Given the description of an element on the screen output the (x, y) to click on. 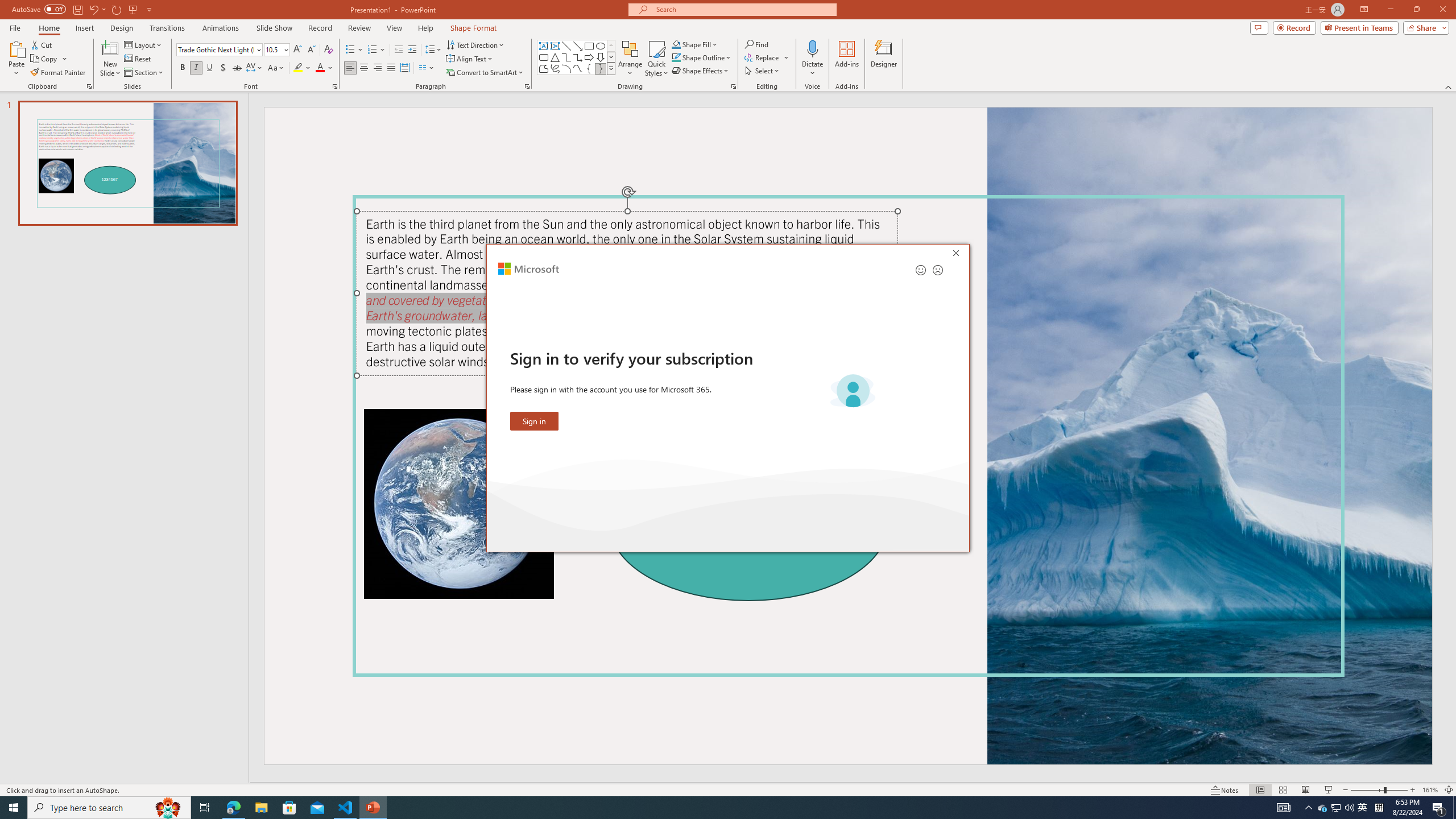
Office Clipboard... (88, 85)
Increase Font Size (297, 49)
